Given the description of an element on the screen output the (x, y) to click on. 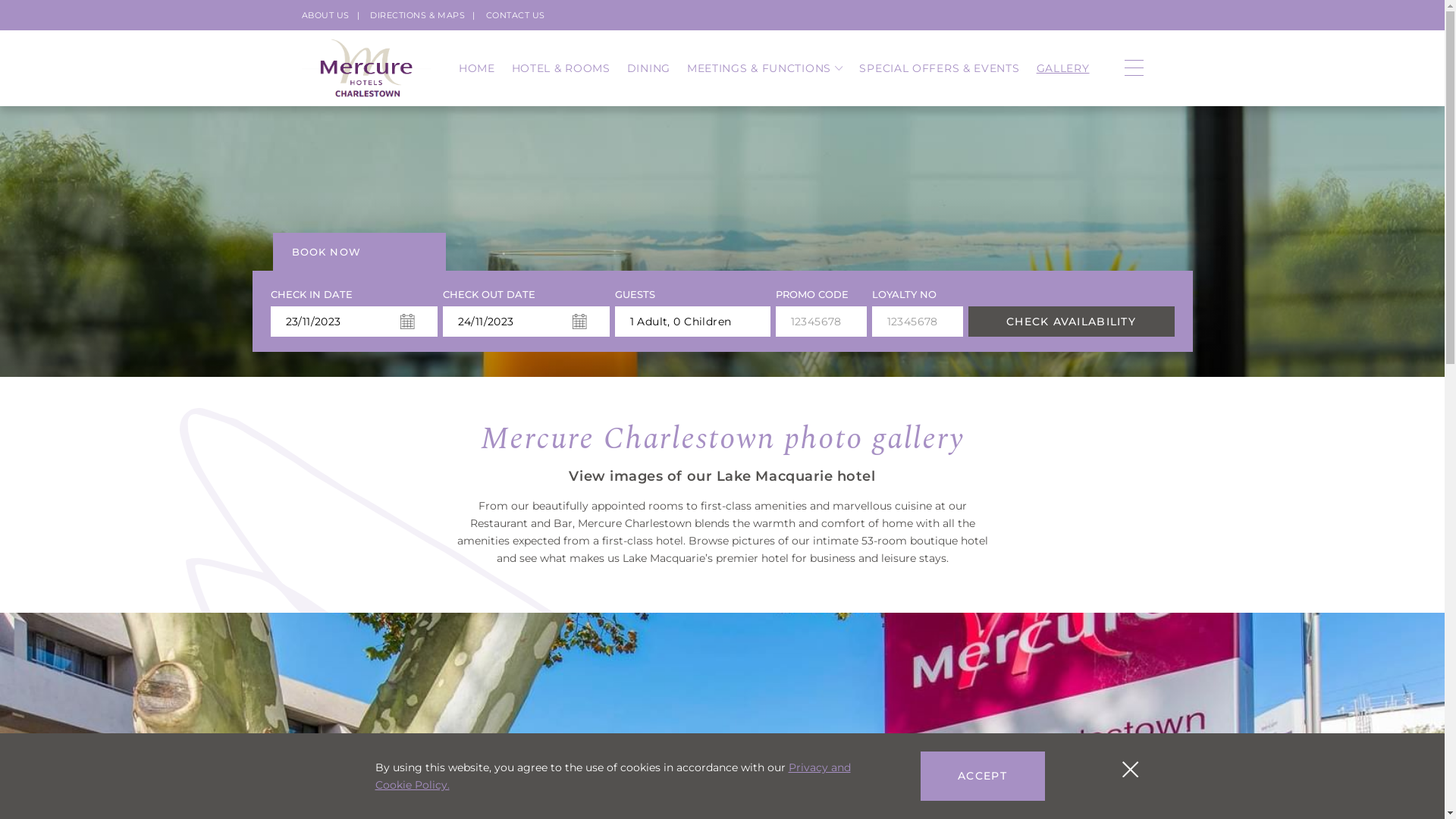
ACCEPT Element type: text (982, 775)
GALLERY Element type: text (1062, 68)
MEETINGS & FUNCTIONS Element type: text (765, 68)
ABOUT US Element type: text (325, 14)
CONTACT US Element type: text (516, 14)
BOOK NOW Element type: text (359, 251)
HOME Element type: text (476, 68)
HOTEL & ROOMS Element type: text (560, 68)
DINING Element type: text (648, 68)
1 Adult, 0 Children Element type: text (691, 321)
DIRECTIONS & MAPS Element type: text (417, 14)
Privacy and Cookie Policy. Element type: text (612, 775)
SPECIAL OFFERS & EVENTS Element type: text (939, 68)
CHECK AVAILABILITY Element type: text (1070, 321)
